Given the description of an element on the screen output the (x, y) to click on. 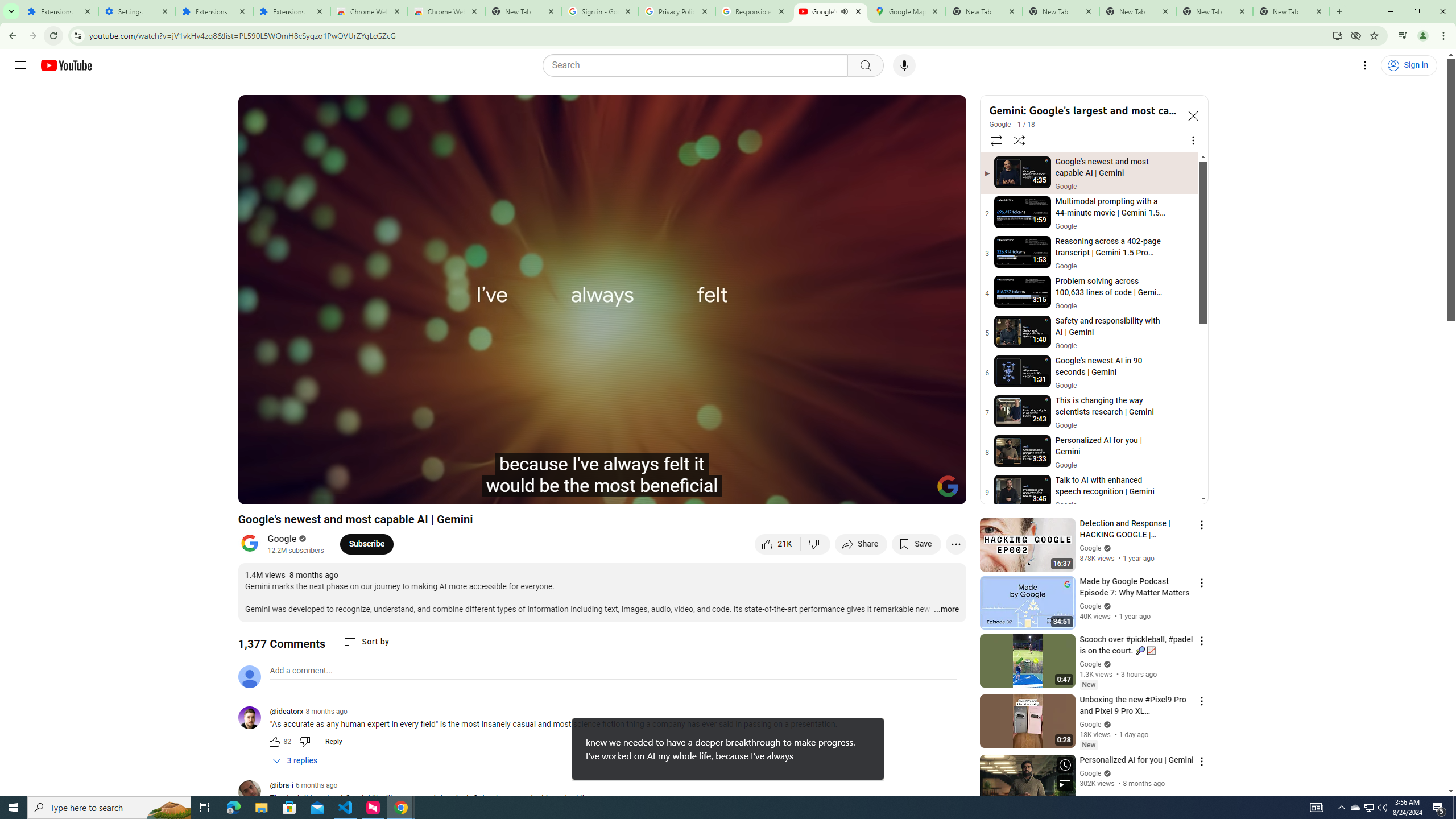
Guide (20, 65)
Miniplayer (i) (890, 490)
@ibra-i (281, 785)
Save to playlist (915, 543)
Channel watermark (947, 486)
@ideatorx (286, 711)
Channel watermark (947, 486)
Install YouTube (1336, 35)
Like this comment along with 82 other people (273, 741)
Full screen (f) (945, 490)
Dislike this video (815, 543)
